Given the description of an element on the screen output the (x, y) to click on. 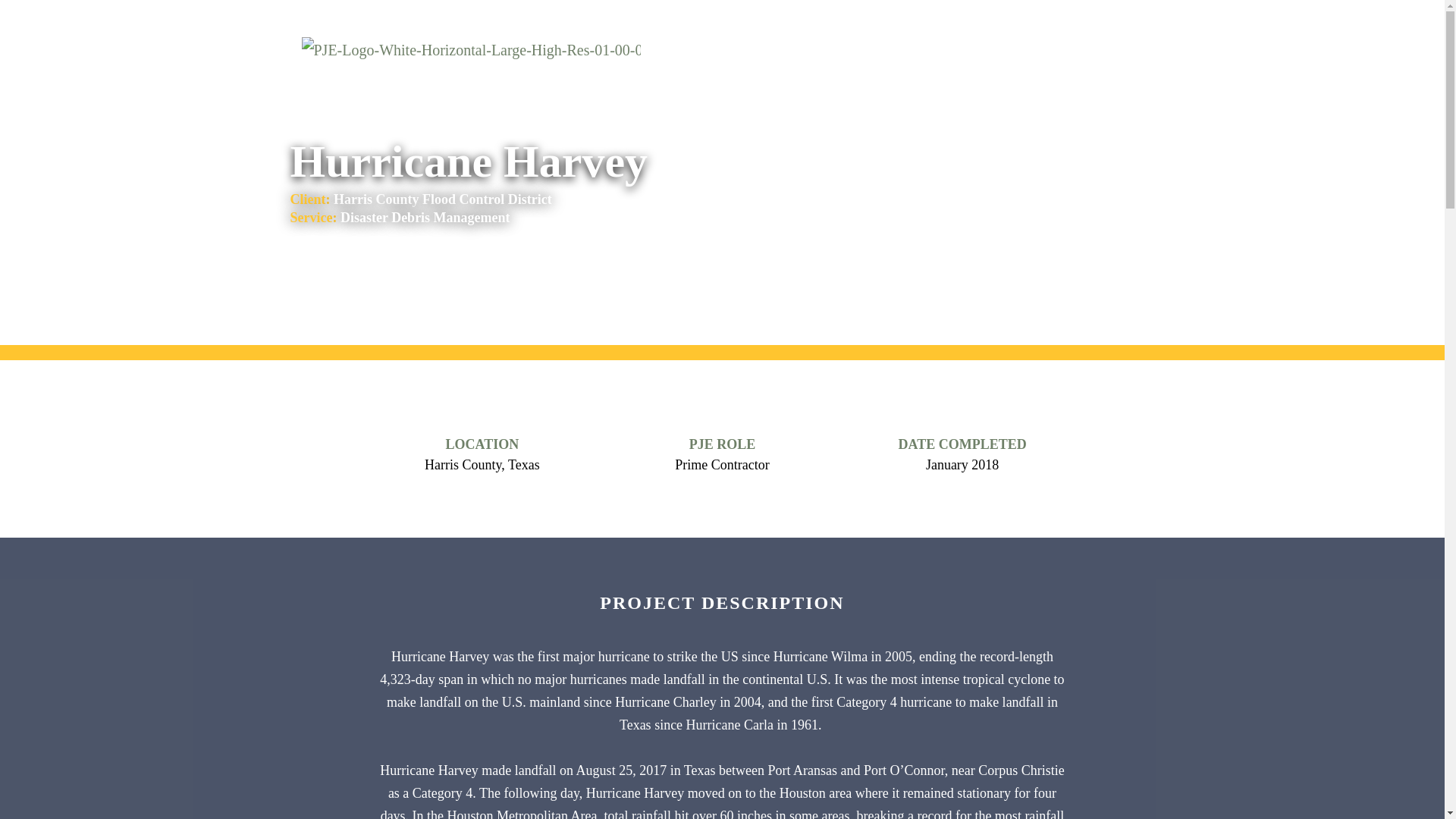
Our Equipment (981, 48)
Experience (830, 35)
Safety (905, 35)
Contact Us (1079, 47)
Services (750, 35)
